Given the description of an element on the screen output the (x, y) to click on. 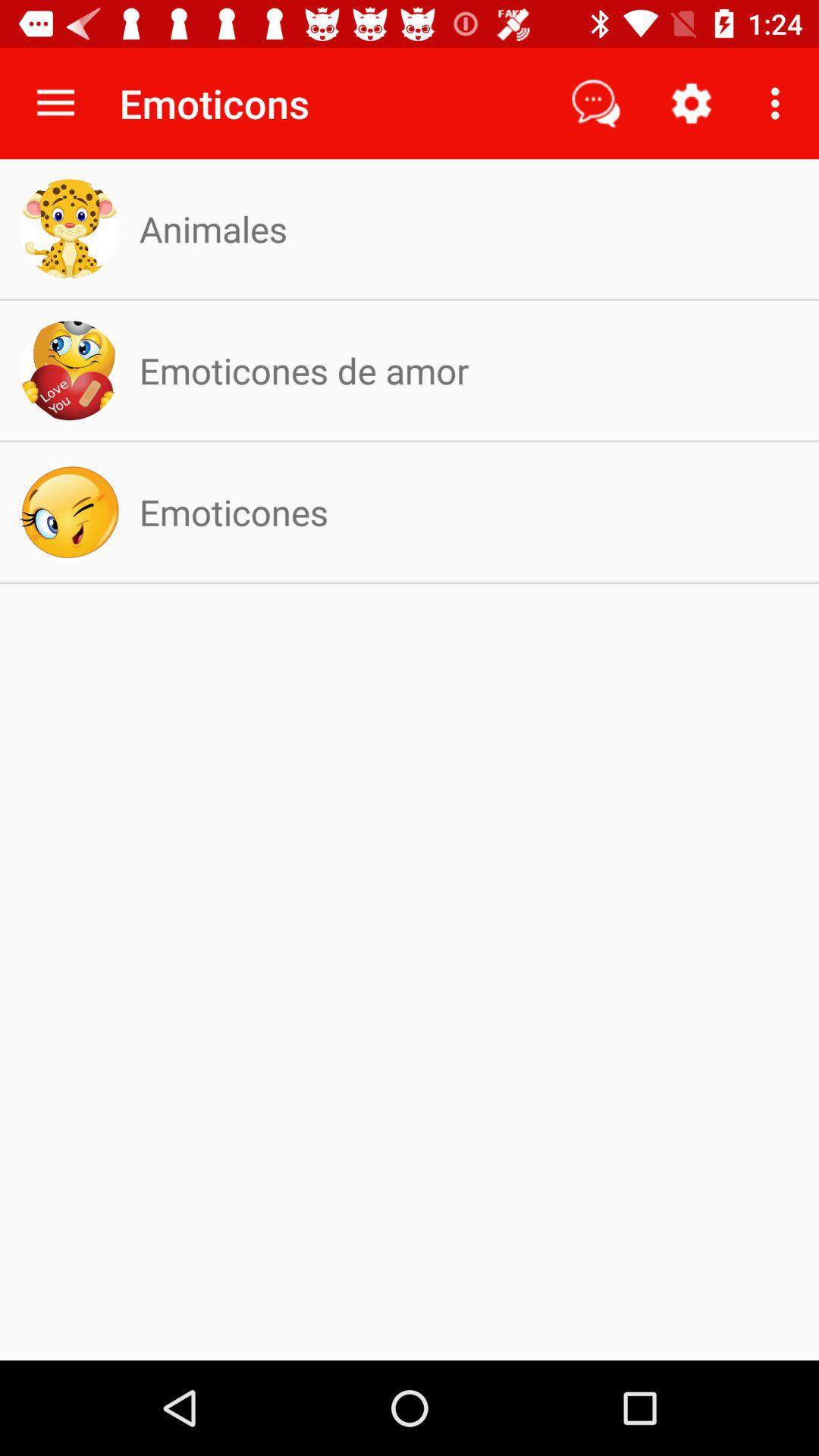
choose the item to the right of the emoticons icon (595, 103)
